Given the description of an element on the screen output the (x, y) to click on. 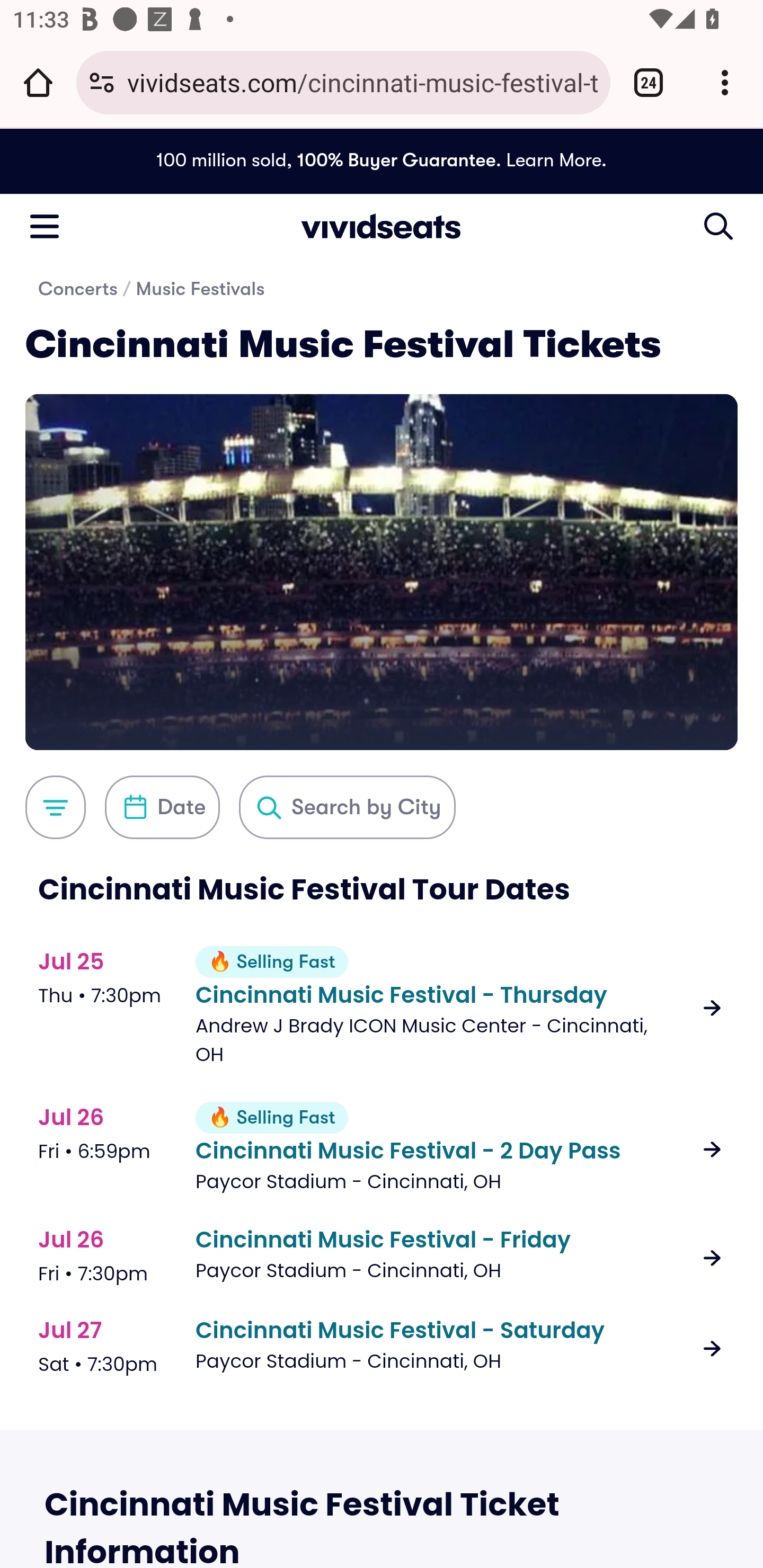
Open the home page (38, 82)
Connection is secure (101, 82)
Switch or close tabs (648, 82)
Customize and control Google Chrome (724, 82)
100% Buyer Guarantee (395, 159)
 (718, 225)
Open the menu (44, 224)
Link to homepage (381, 225)
Concerts (78, 289)
Music Festivals (200, 289)
filter (55, 807)
filter (163, 807)
filter (347, 807)
